Given the description of an element on the screen output the (x, y) to click on. 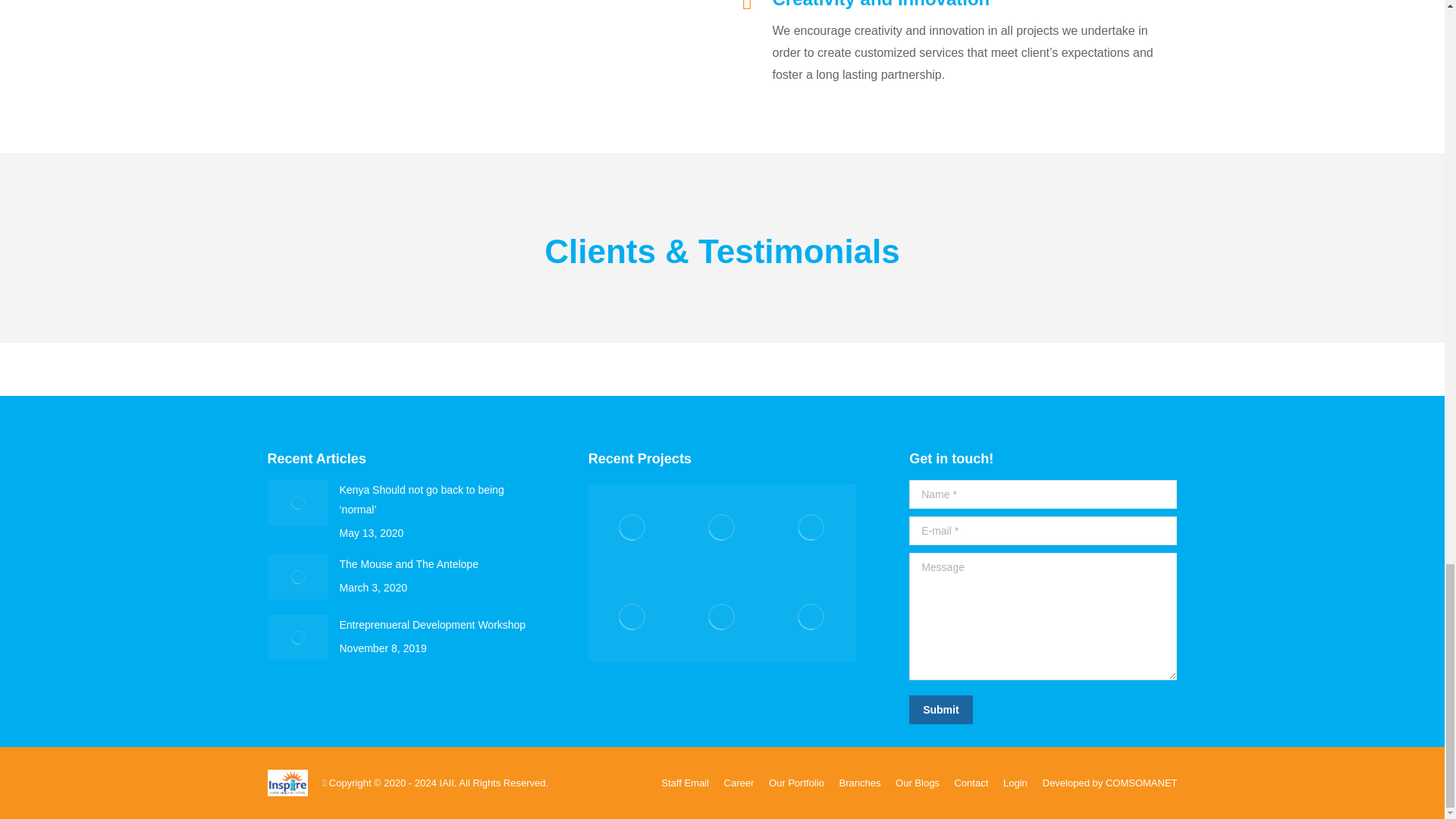
FiRe Award 2020 Ceremony (811, 528)
ASK Regional stakeholders meeting at the Kisumu showground (633, 616)
CSR at the Launch of KCA University Accounting Students Club (722, 616)
submit (1012, 710)
